Given the description of an element on the screen output the (x, y) to click on. 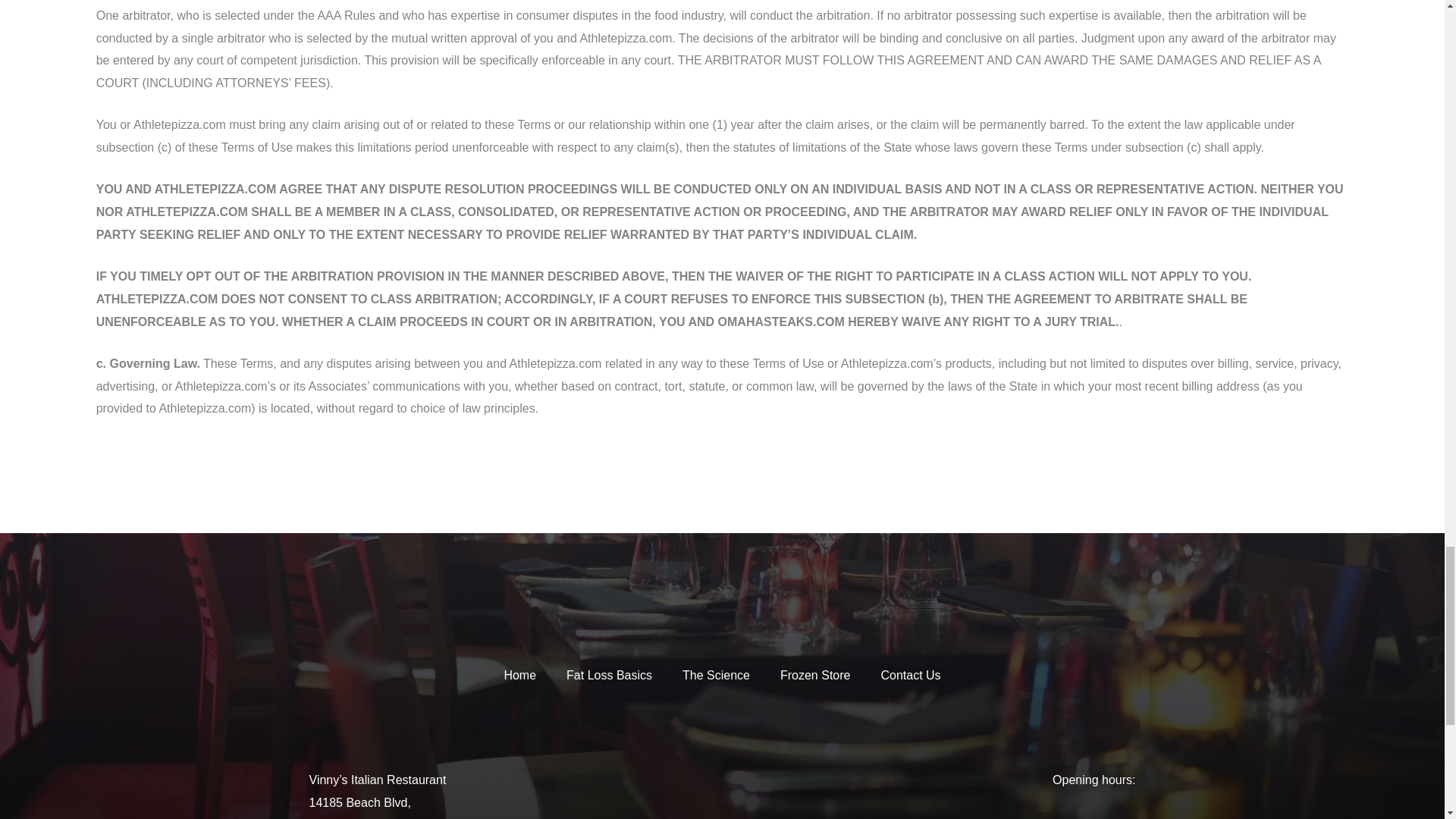
Fat Loss Basics (608, 675)
Contact Us (909, 675)
Frozen Store (814, 675)
The Science (715, 675)
Home (519, 675)
